Given the description of an element on the screen output the (x, y) to click on. 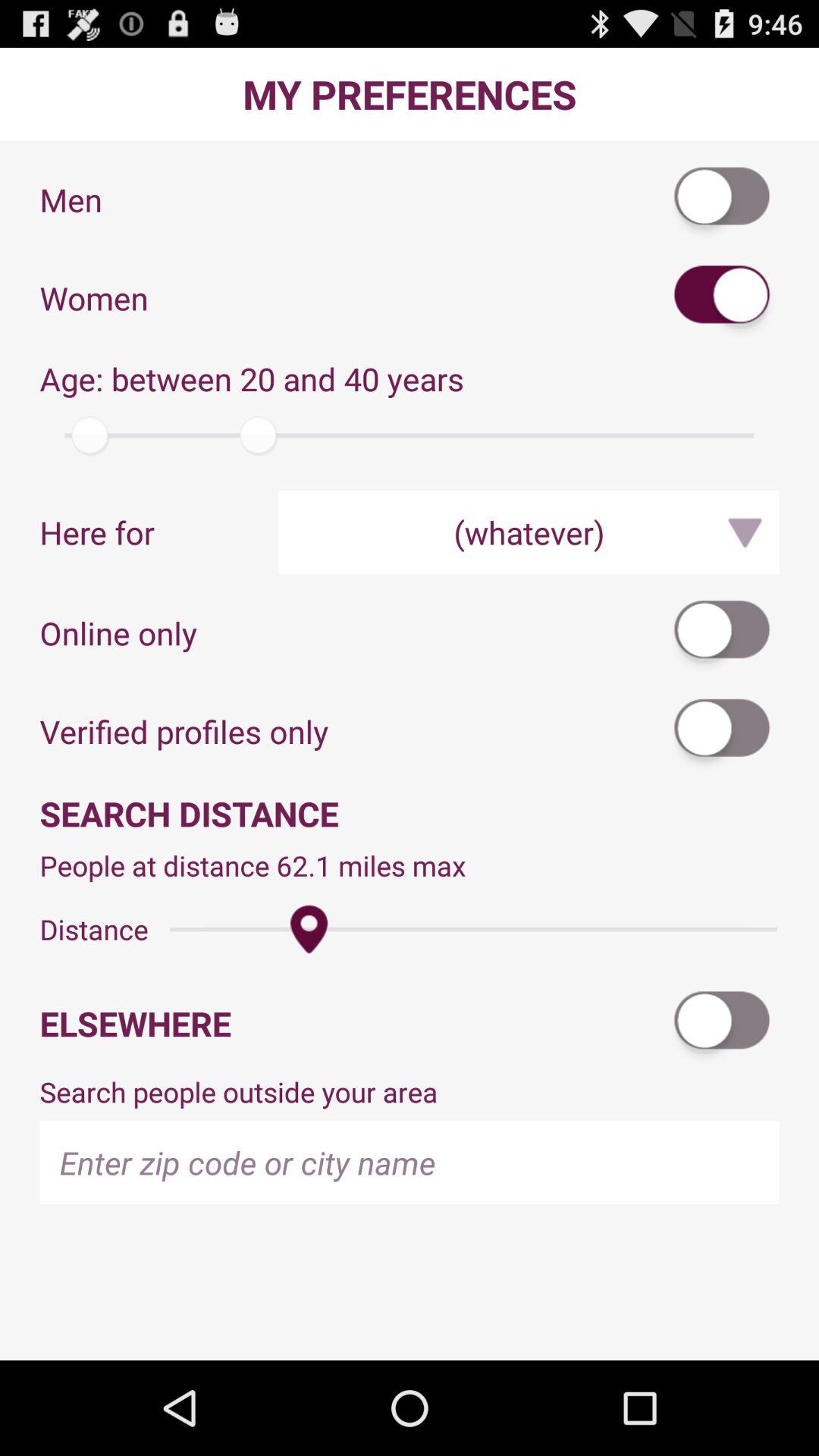
add city name or zip code (409, 1162)
